Given the description of an element on the screen output the (x, y) to click on. 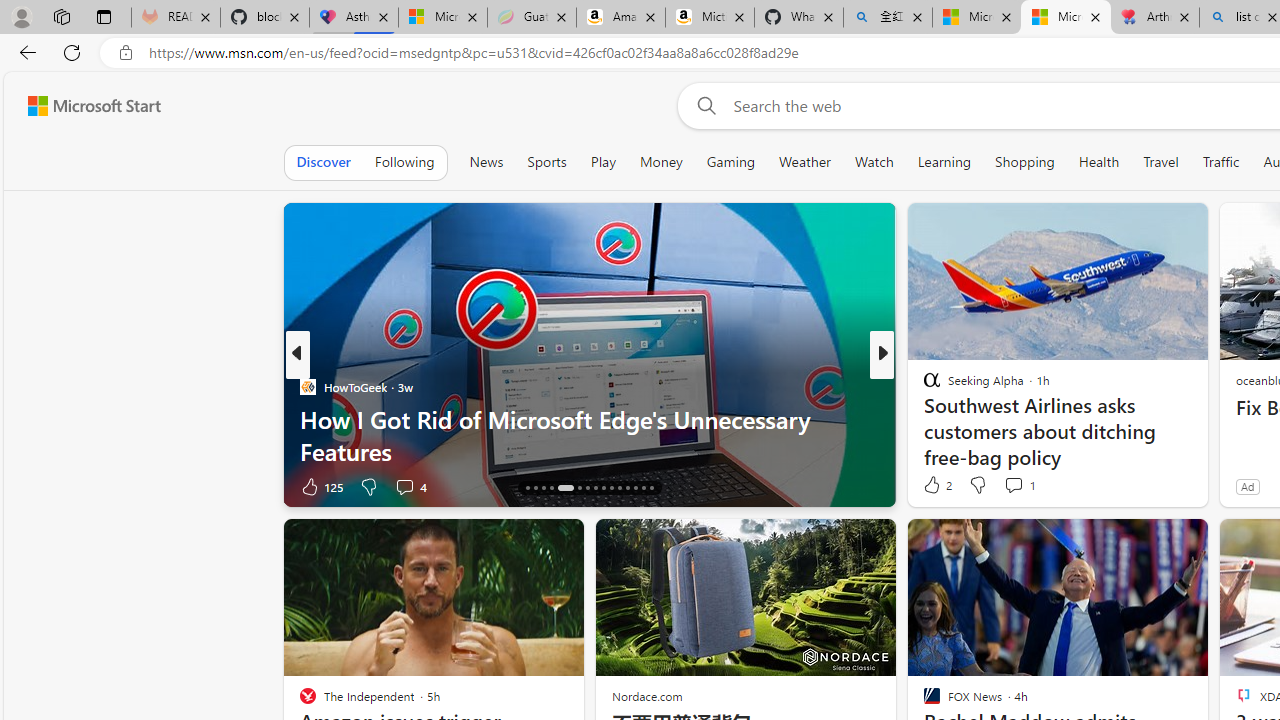
Scripps News (923, 386)
AutomationID: tab-17 (535, 487)
22 Like (934, 486)
View comments 25 Comment (1022, 486)
AutomationID: tab-30 (650, 487)
20 Like (934, 486)
